Given the description of an element on the screen output the (x, y) to click on. 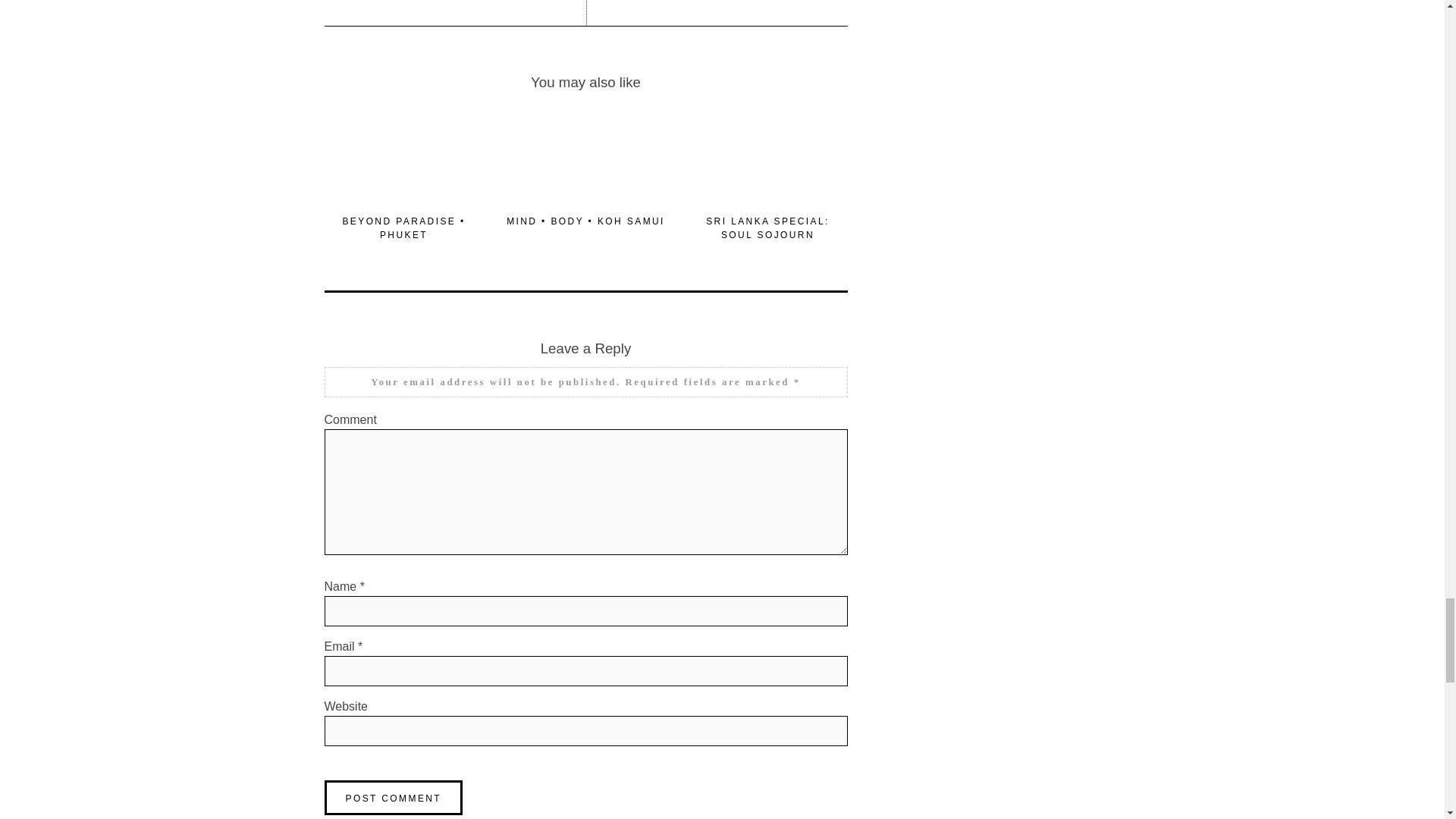
Post Comment (393, 797)
